Given the description of an element on the screen output the (x, y) to click on. 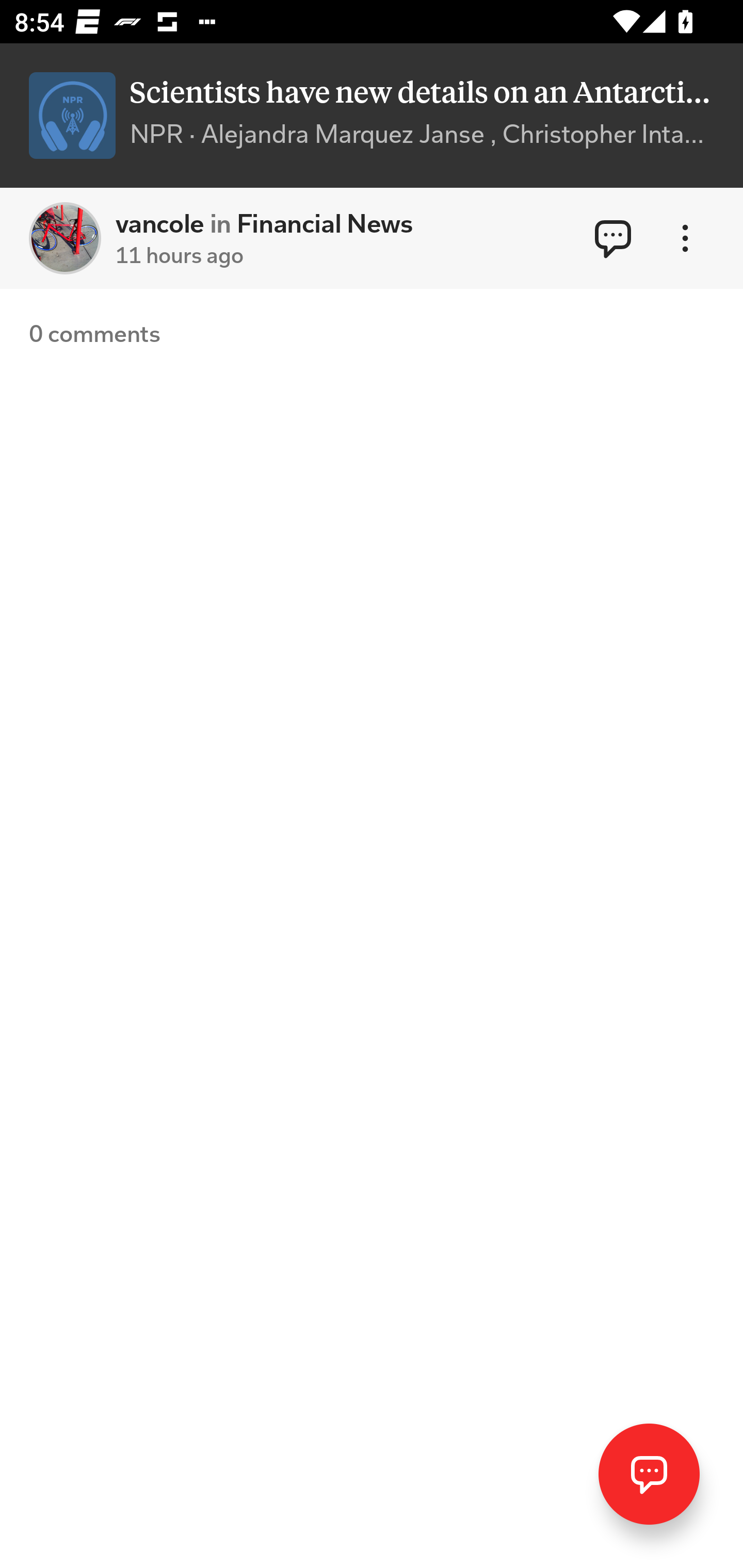
vancole (64, 238)
